Given the description of an element on the screen output the (x, y) to click on. 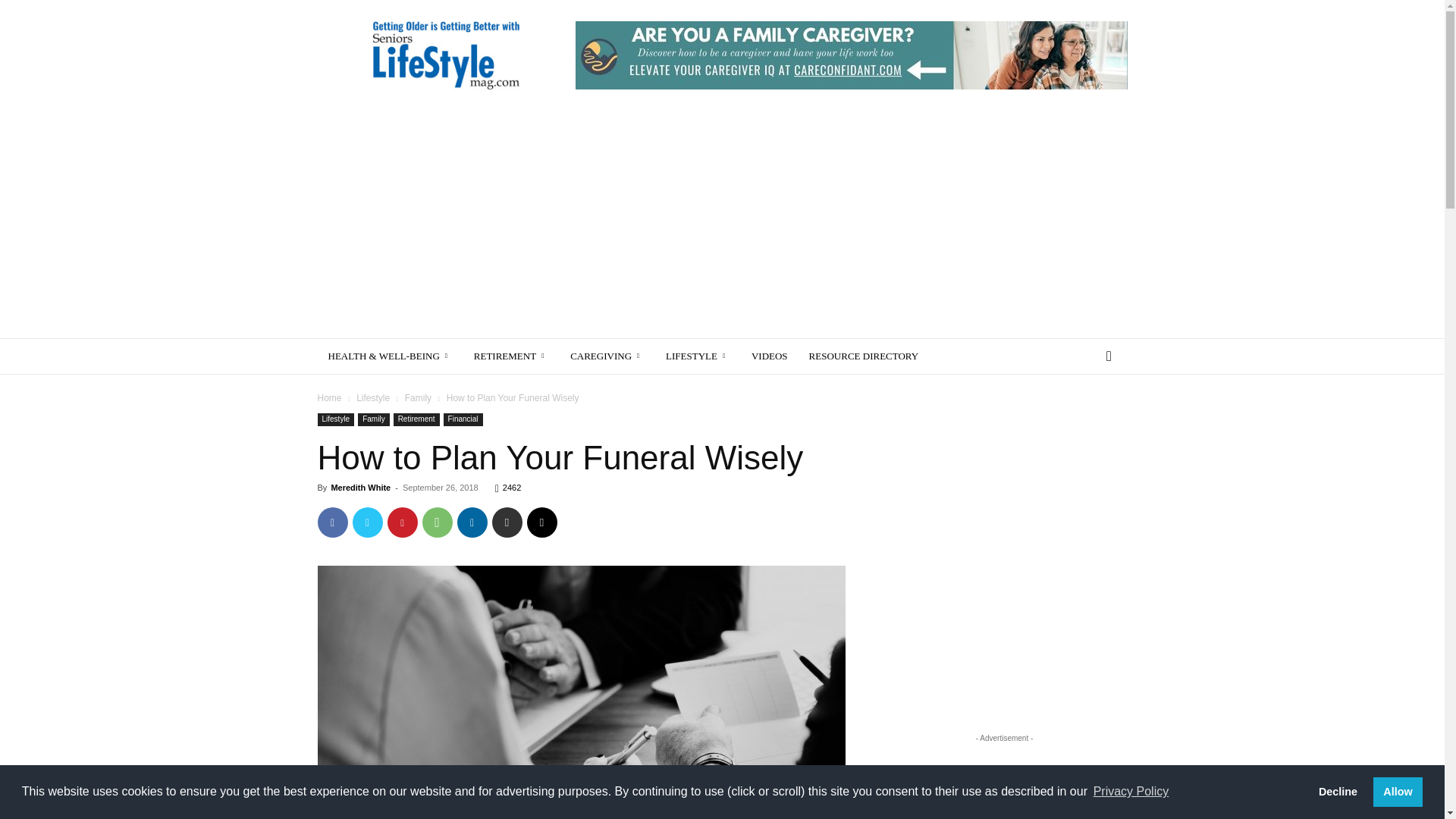
Privacy Policy (1130, 791)
Decline (1337, 791)
Allow (1397, 791)
